Given the description of an element on the screen output the (x, y) to click on. 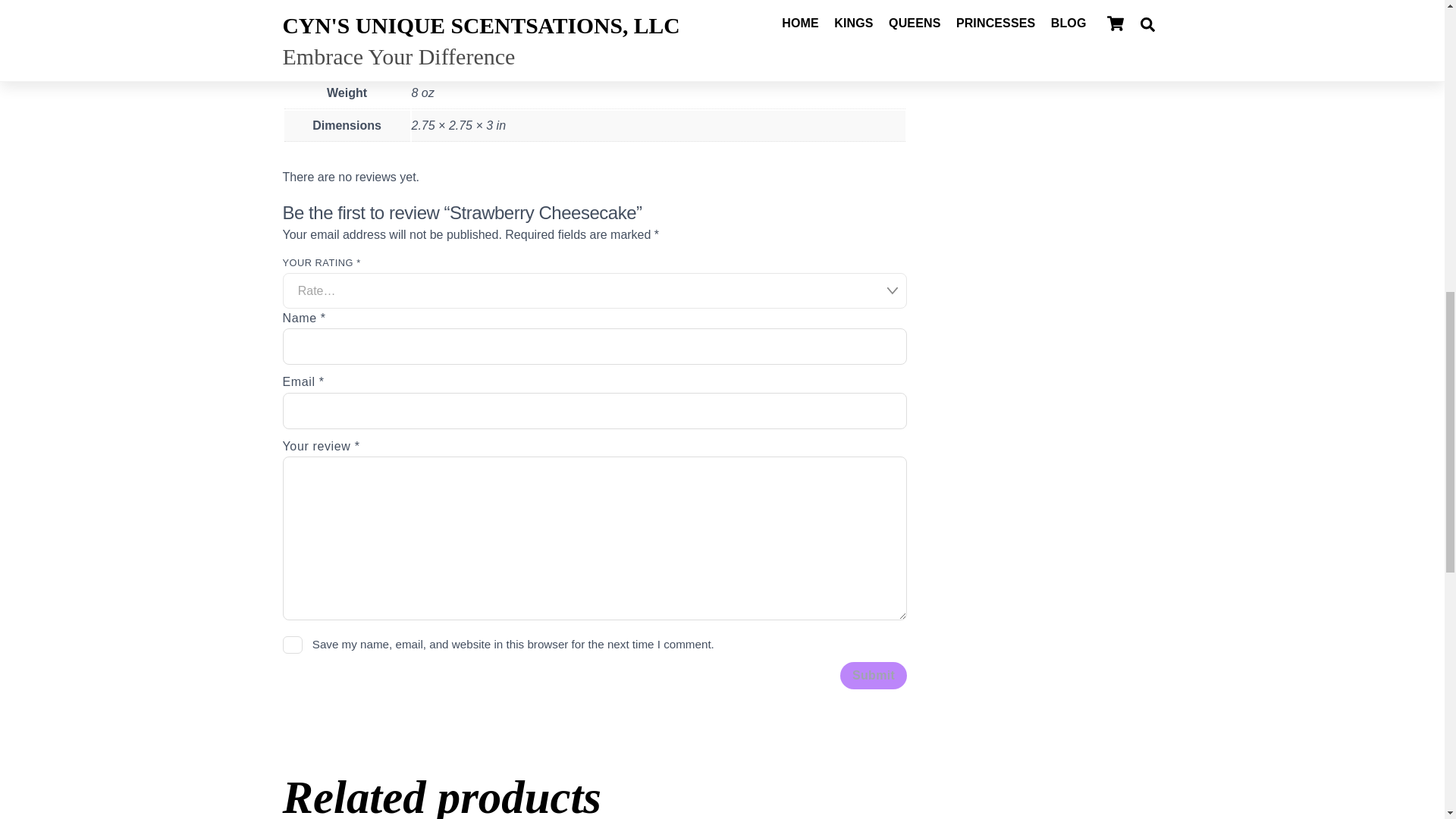
Submit (873, 675)
yes (292, 644)
Submit (873, 675)
